Given the description of an element on the screen output the (x, y) to click on. 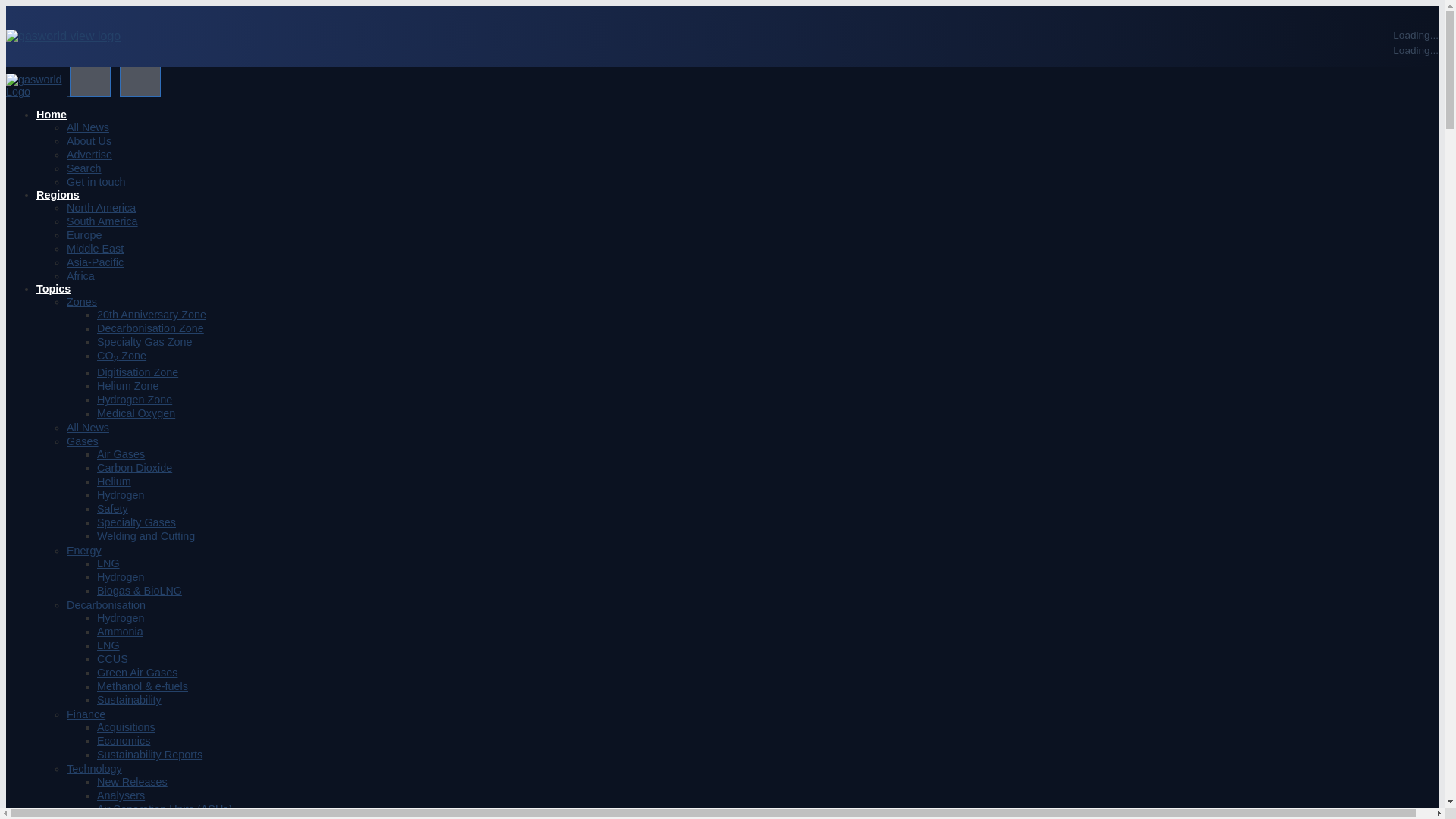
Specialty Gas Zone (144, 341)
Europe (83, 234)
North America (100, 207)
Regions (58, 194)
Middle East (94, 248)
Decarbonisation Zone (150, 328)
Helium (114, 481)
Regions (58, 194)
Get in touch (95, 182)
Specialty Gas Zone (144, 341)
